Given the description of an element on the screen output the (x, y) to click on. 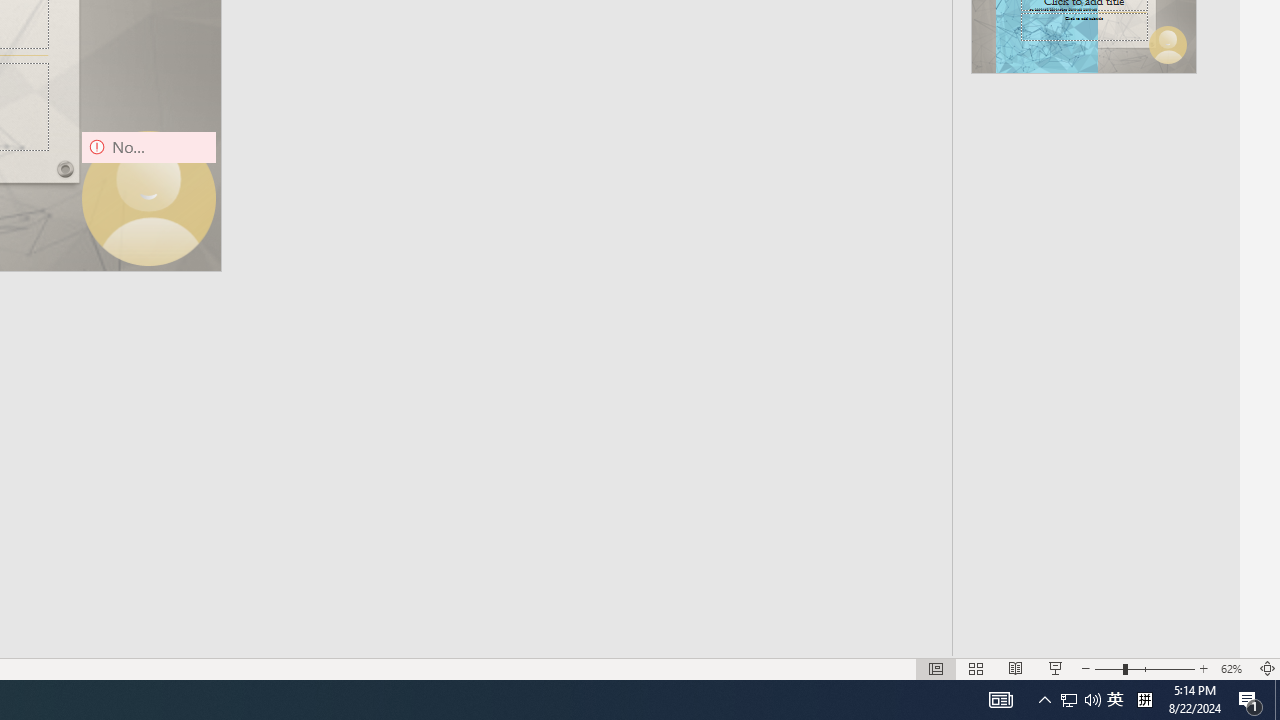
Show Output Log (1025, 546)
Spaces: 4 (929, 628)
UTF-8 (1029, 628)
Retry (1189, 546)
Launch Profile... (1096, 218)
Maximize Panel Size (1183, 218)
